Given the description of an element on the screen output the (x, y) to click on. 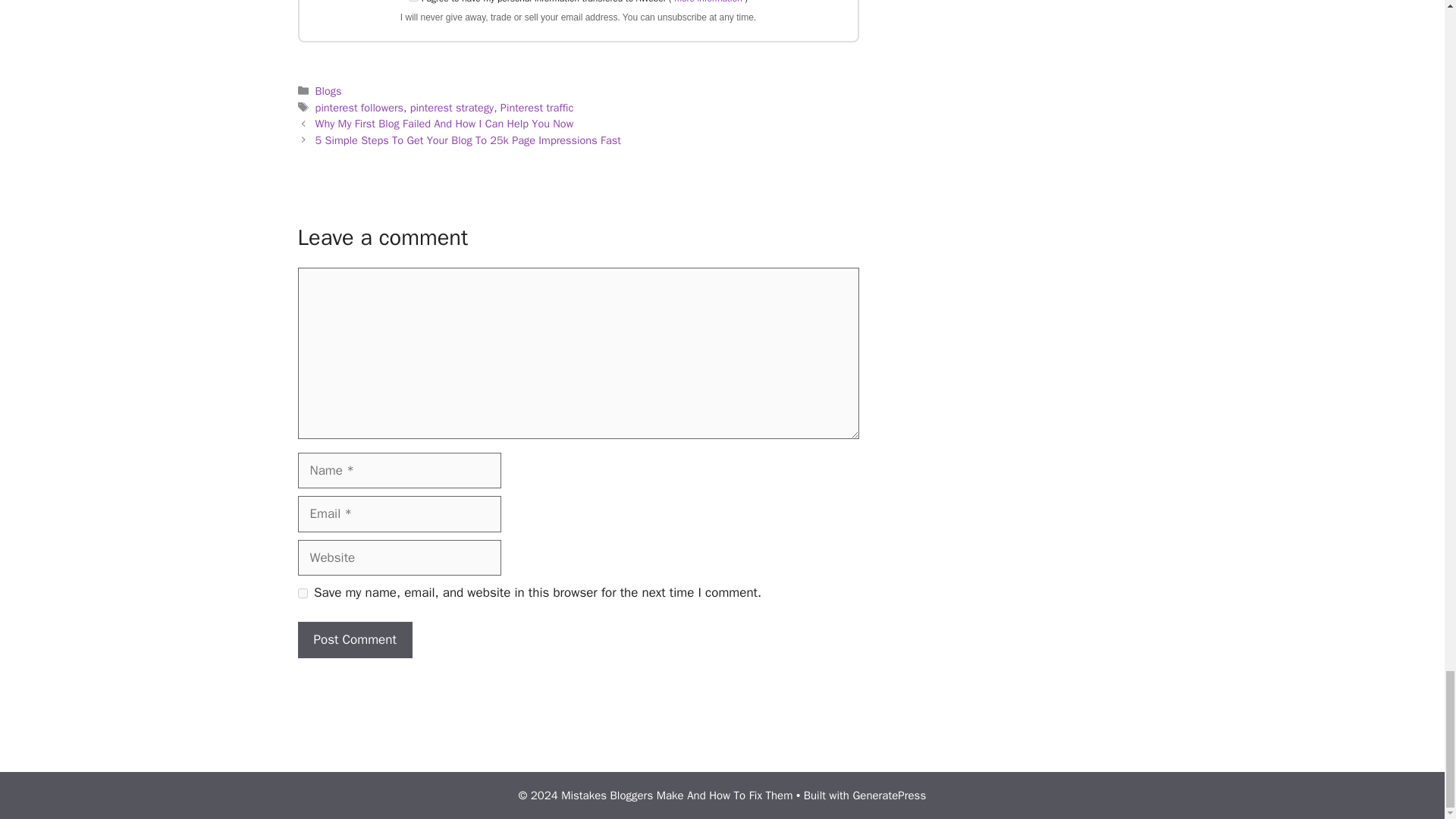
yes (302, 593)
Post Comment (354, 639)
5 Simple Steps To Get Your Blog To 25k Page Impressions Fast (468, 140)
Why My First Blog Failed And How I Can Help You Now (444, 123)
Post Comment (354, 639)
GeneratePress (888, 795)
more information (707, 2)
pinterest followers (359, 107)
Pinterest traffic (536, 107)
pinterest strategy (451, 107)
Blogs (328, 90)
